Given the description of an element on the screen output the (x, y) to click on. 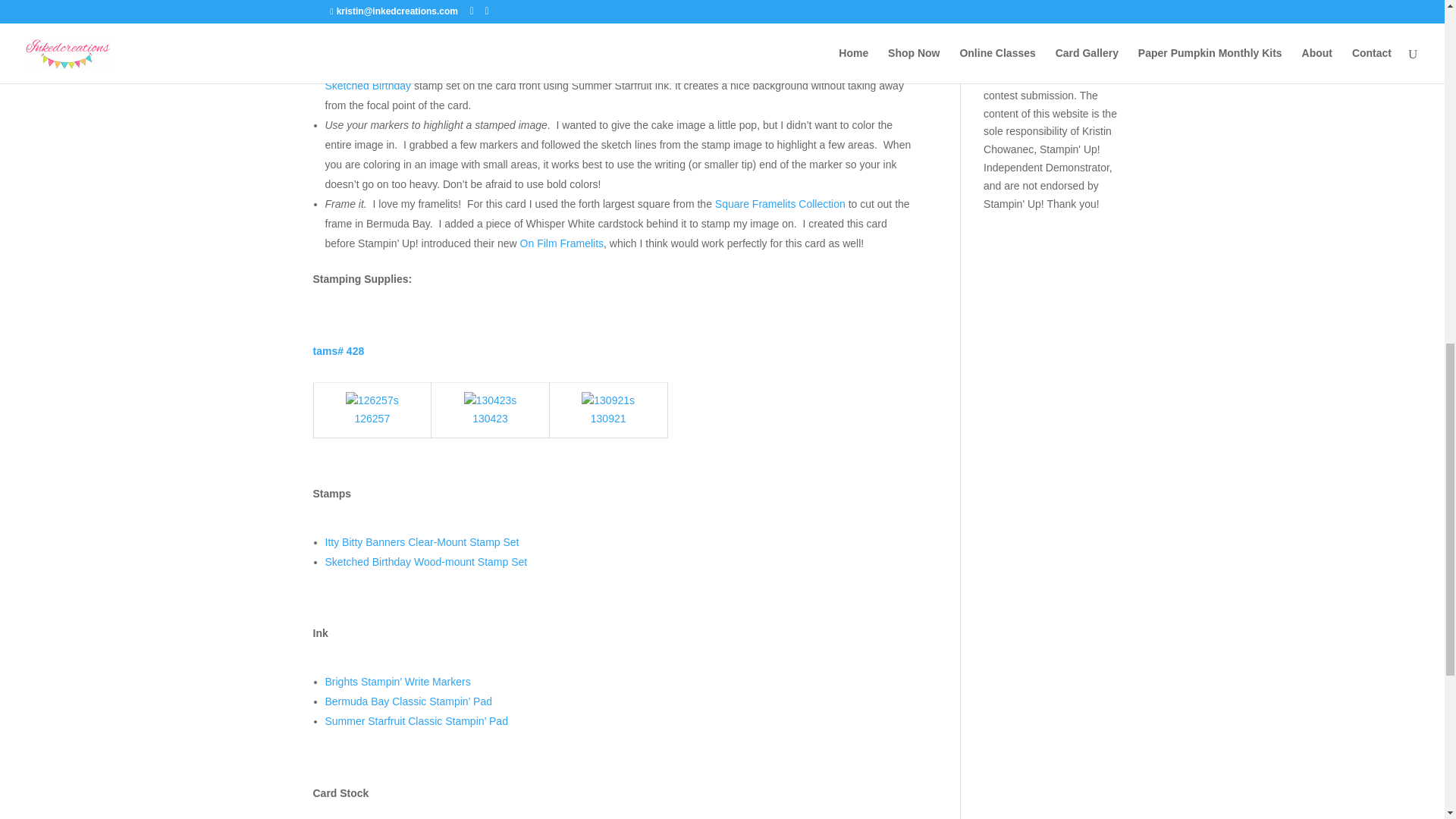
Itty Bitty Banners Clear-Mount Stamp Set (371, 418)
130423 (489, 418)
Summer Starfruit Classic Stampin' Pad (415, 720)
Squares Collection Framelits Dies (607, 399)
Sketched Birthday (367, 85)
Brights Stampin' Write Markers (397, 681)
Sketched Birthday Wood-mount Stamp Set (489, 418)
Squares Collection Framelits Dies (607, 401)
Bermuda Bay Classic Stampin' Pad (408, 701)
Itty Bitty Banners Clear-Mount Stamp Set (372, 401)
